Given the description of an element on the screen output the (x, y) to click on. 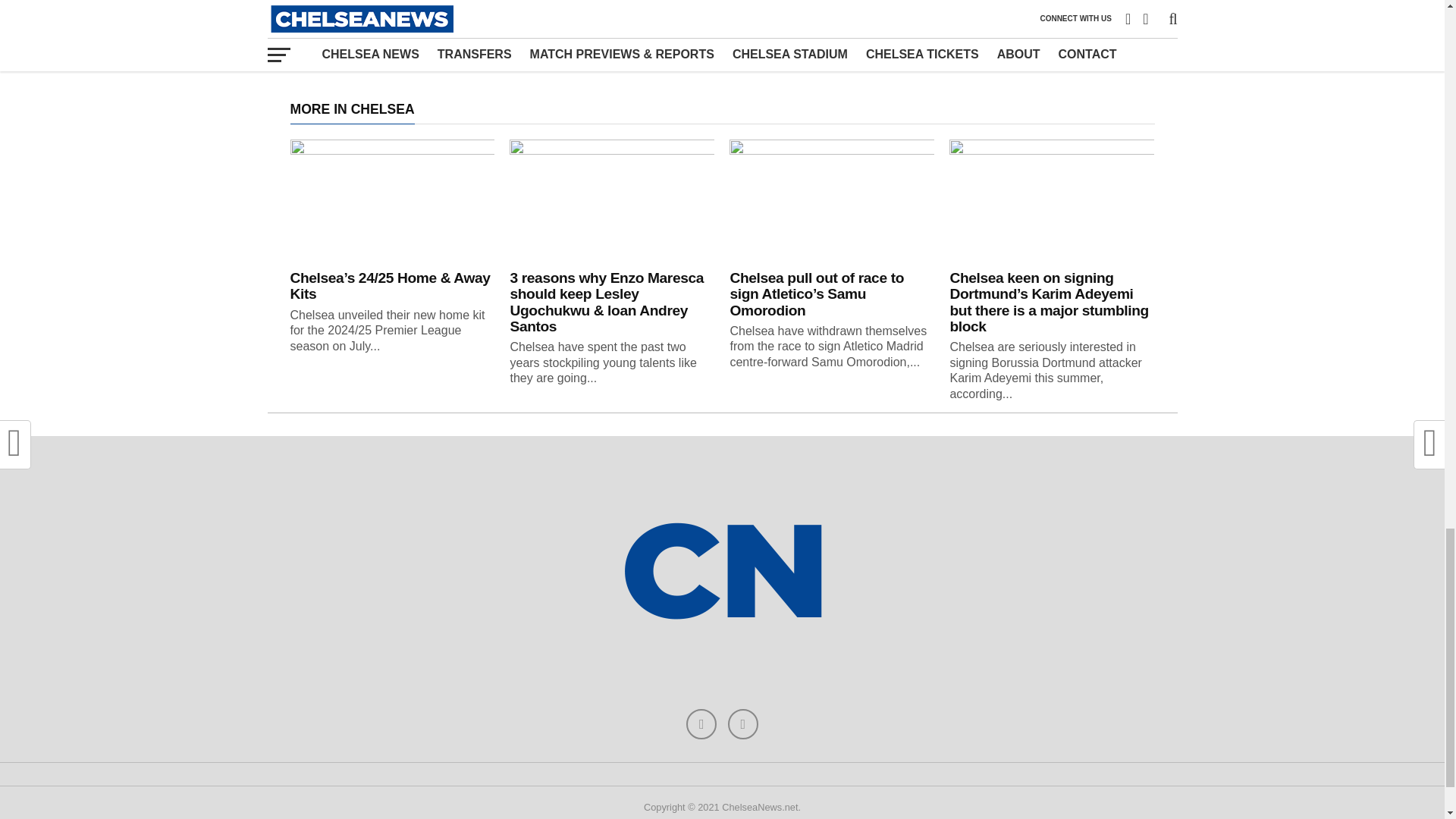
MORNING MIX (554, 52)
CHELSEA (478, 52)
PREMIER LEAGUE (652, 52)
